Given the description of an element on the screen output the (x, y) to click on. 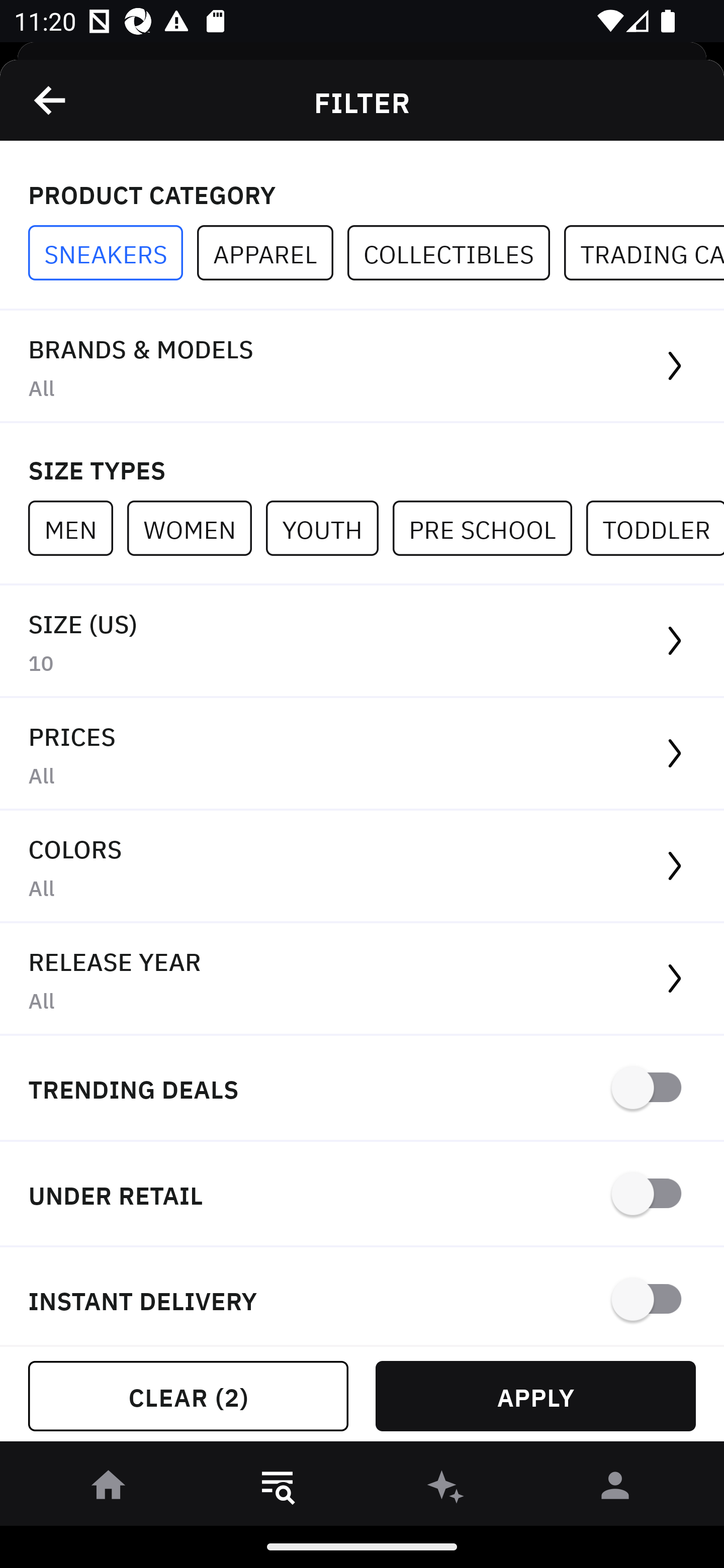
 (50, 100)
SNEAKERS (112, 252)
APPAREL (271, 252)
COLLECTIBLES (455, 252)
TRADING CARDS (643, 252)
BRANDS & MODELS All (362, 366)
MEN (77, 527)
WOMEN (196, 527)
YOUTH (328, 527)
PRE SCHOOL (489, 527)
TODDLER (655, 527)
SIZE (US) 10 (362, 640)
PRICES All (362, 753)
COLORS All (362, 866)
RELEASE YEAR All (362, 979)
TRENDING DEALS (362, 1088)
UNDER RETAIL (362, 1194)
INSTANT DELIVERY (362, 1296)
CLEAR (2) (188, 1396)
APPLY (535, 1396)
󰋜 (108, 1488)
󱎸 (277, 1488)
󰫢 (446, 1488)
󰀄 (615, 1488)
